Given the description of an element on the screen output the (x, y) to click on. 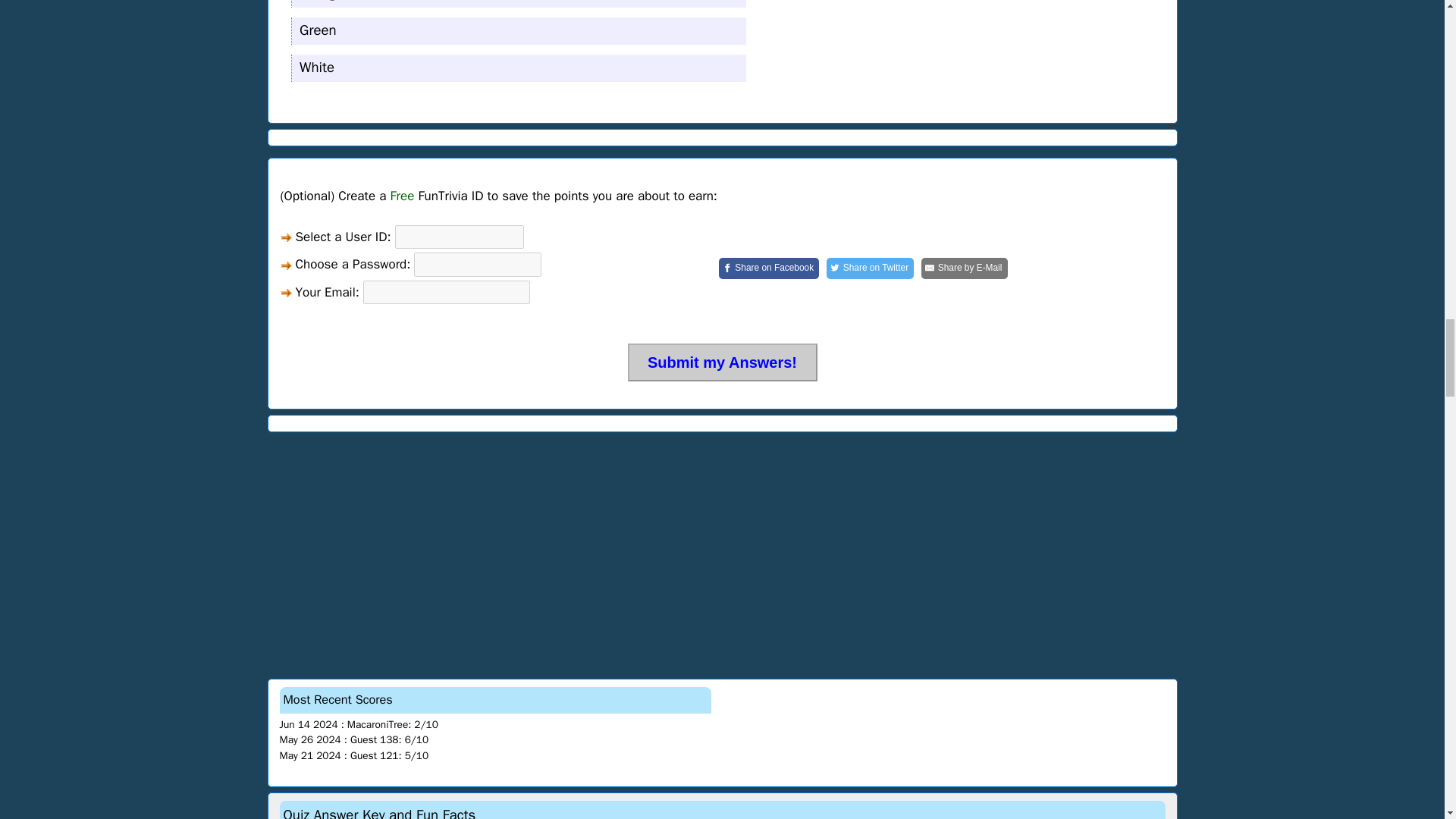
Submit my Answers! (721, 362)
